Given the description of an element on the screen output the (x, y) to click on. 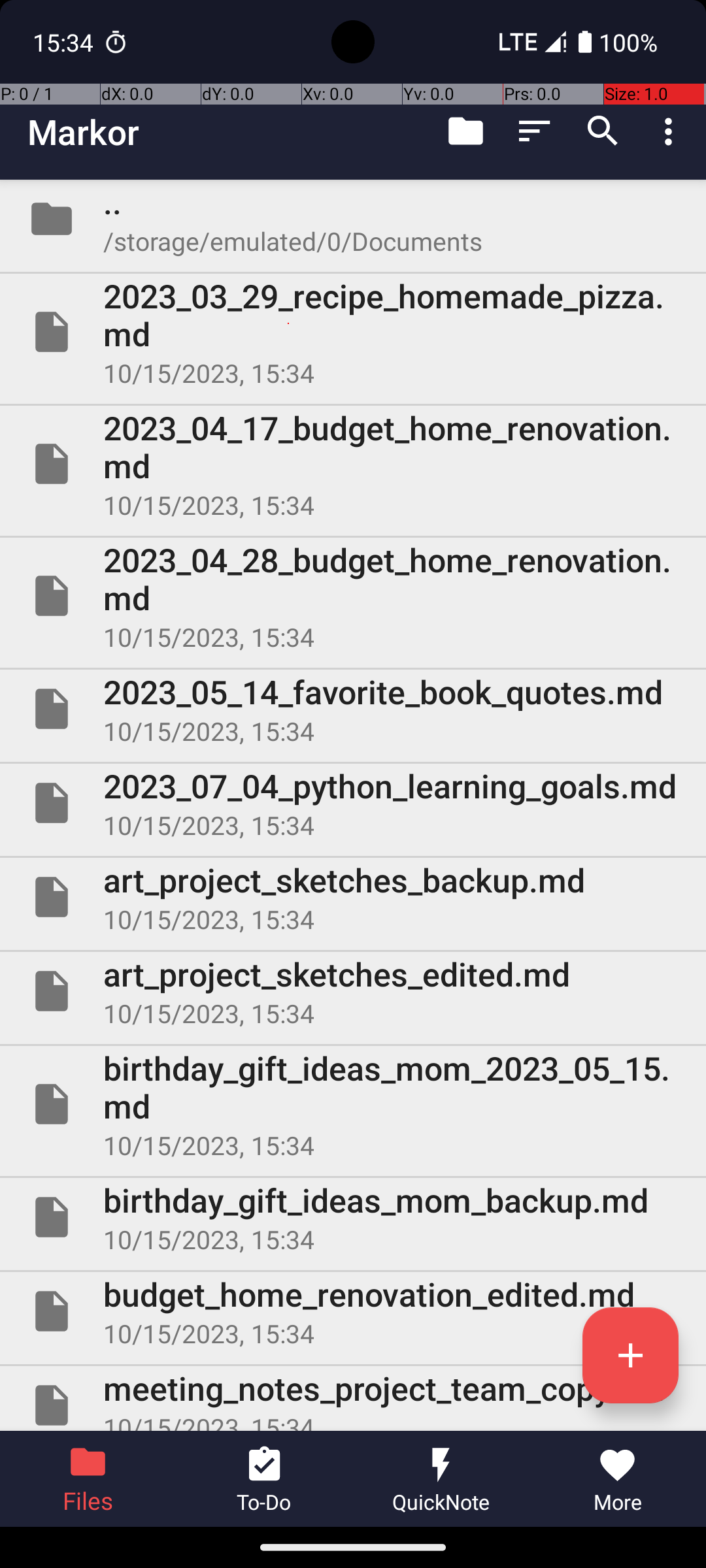
File 2023_03_29_recipe_homemade_pizza.md  Element type: android.widget.LinearLayout (353, 331)
File 2023_04_17_budget_home_renovation.md  Element type: android.widget.LinearLayout (353, 463)
File 2023_04_28_budget_home_renovation.md  Element type: android.widget.LinearLayout (353, 595)
File 2023_05_14_favorite_book_quotes.md  Element type: android.widget.LinearLayout (353, 708)
File 2023_07_04_python_learning_goals.md  Element type: android.widget.LinearLayout (353, 802)
File art_project_sketches_backup.md  Element type: android.widget.LinearLayout (353, 896)
File art_project_sketches_edited.md  Element type: android.widget.LinearLayout (353, 990)
File birthday_gift_ideas_mom_2023_05_15.md  Element type: android.widget.LinearLayout (353, 1103)
File birthday_gift_ideas_mom_backup.md  Element type: android.widget.LinearLayout (353, 1216)
File budget_home_renovation_edited.md  Element type: android.widget.LinearLayout (353, 1311)
File meeting_notes_project_team_copy.md  Element type: android.widget.LinearLayout (353, 1398)
